Given the description of an element on the screen output the (x, y) to click on. 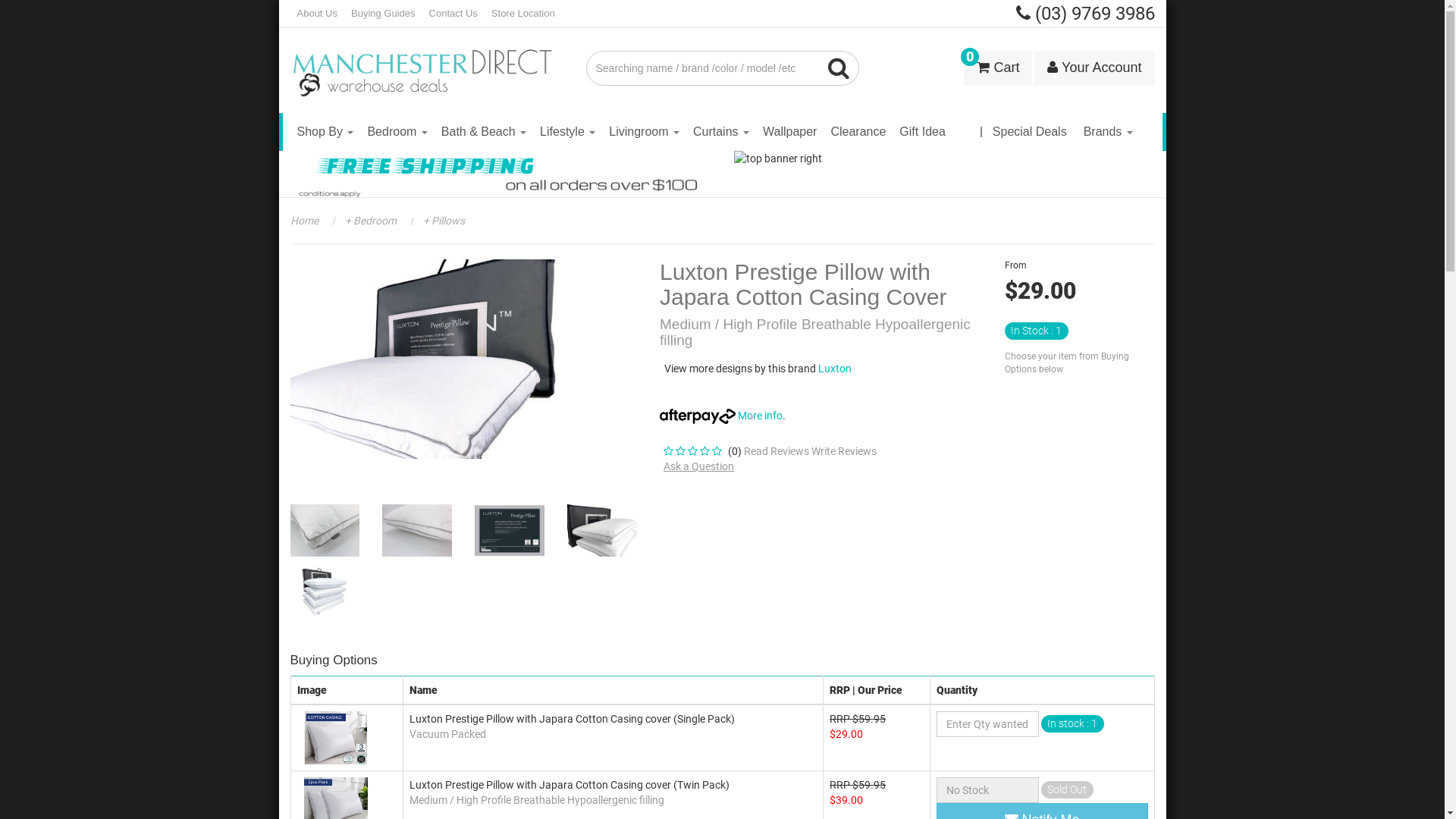
+ Bedroom Element type: text (369, 220)
About Us Element type: text (316, 13)
Large View Element type: hover (509, 530)
Livingroom Element type: text (644, 131)
Clearance Element type: text (857, 131)
Bedroom Element type: text (396, 131)
Home Element type: text (303, 220)
Write Reviews Element type: text (843, 451)
Search Element type: text (839, 67)
Large View Element type: hover (602, 530)
YM International Group Pty Ltd Element type: hover (425, 62)
Large View Element type: hover (324, 530)
More info Element type: text (720, 415)
Wallpaper Element type: text (789, 131)
Gift Idea Element type: text (921, 131)
Special Deals Element type: text (1029, 131)
Curtains Element type: text (721, 131)
Brands Element type: text (1107, 131)
Large View Element type: hover (416, 530)
Bath & Beach Element type: text (483, 131)
Shop By Element type: text (324, 131)
+ Pillows Element type: text (442, 220)
Contact Us Element type: text (453, 13)
Buying Guides Element type: text (383, 13)
0
Cart Element type: text (997, 67)
Ask a Question Element type: text (698, 466)
Store Location Element type: text (522, 13)
Read Reviews Element type: text (776, 451)
Large View Element type: hover (324, 590)
Luxton Element type: text (834, 368)
Lifestyle Element type: text (567, 131)
Your Account Element type: text (1094, 67)
